Given the description of an element on the screen output the (x, y) to click on. 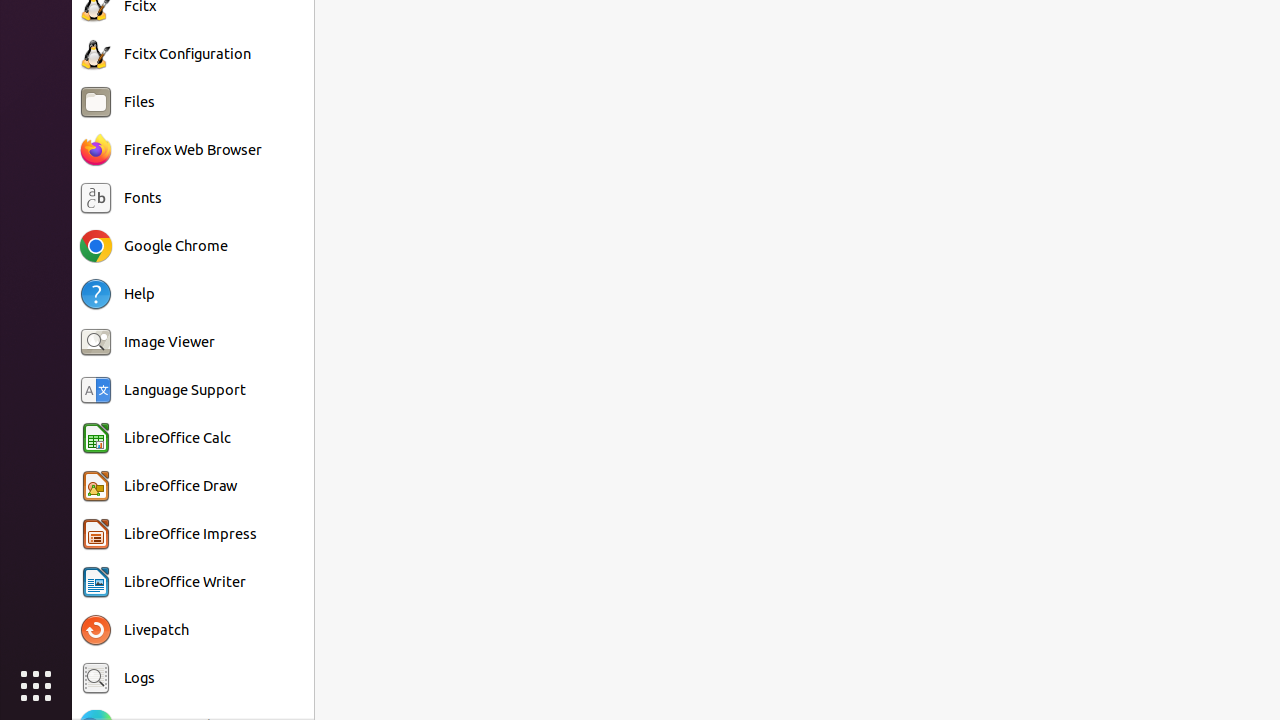
Firefox Web Browser Element type: label (193, 150)
LibreOffice Impress Element type: label (190, 534)
Fonts Element type: label (143, 198)
Fcitx Configuration Element type: label (187, 54)
